Given the description of an element on the screen output the (x, y) to click on. 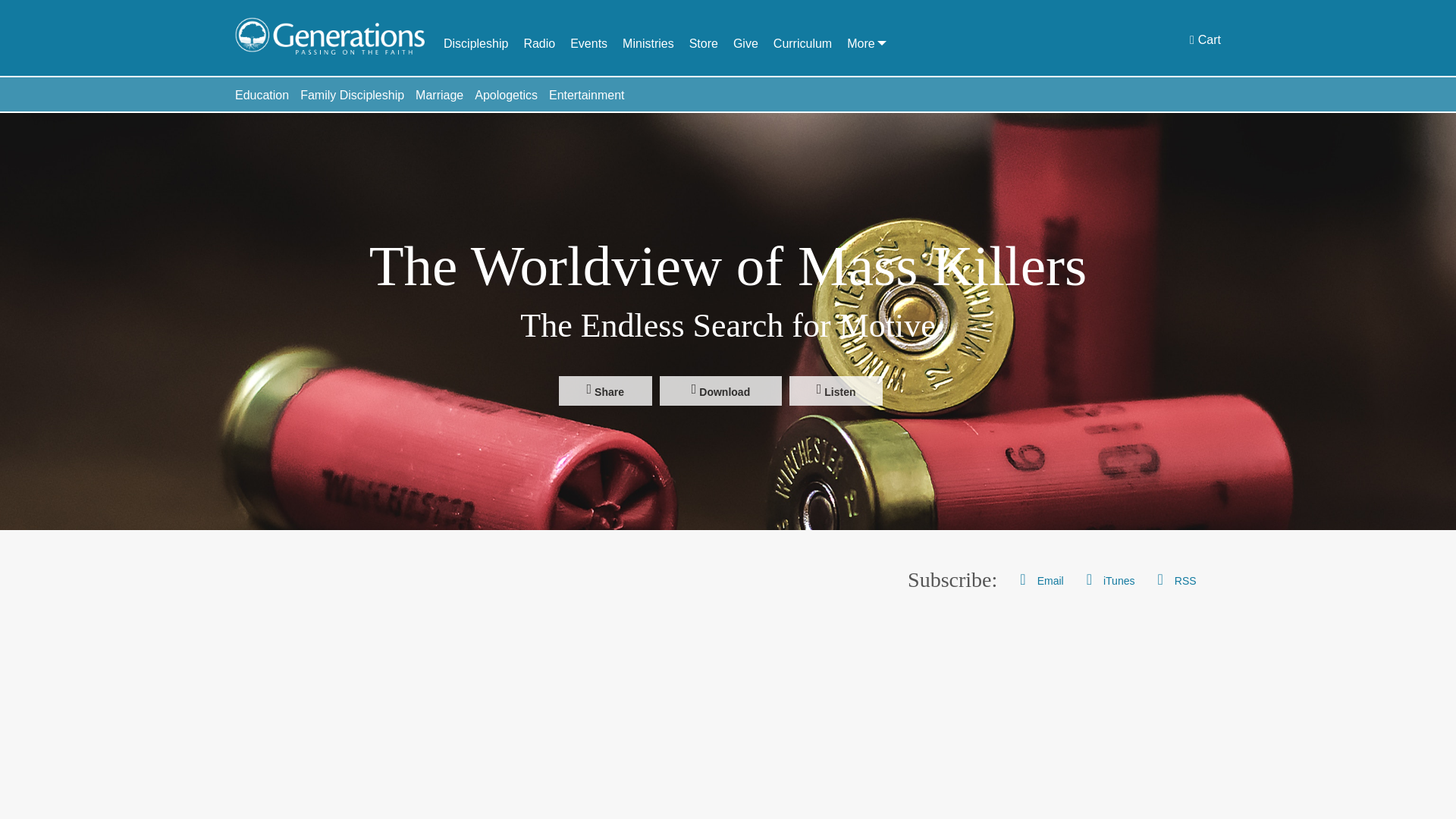
Curriculum (802, 42)
Give (745, 42)
Radio (538, 42)
Ministries (648, 42)
Discipleship (476, 42)
Events (588, 42)
More (861, 42)
Store (702, 42)
